Given the description of an element on the screen output the (x, y) to click on. 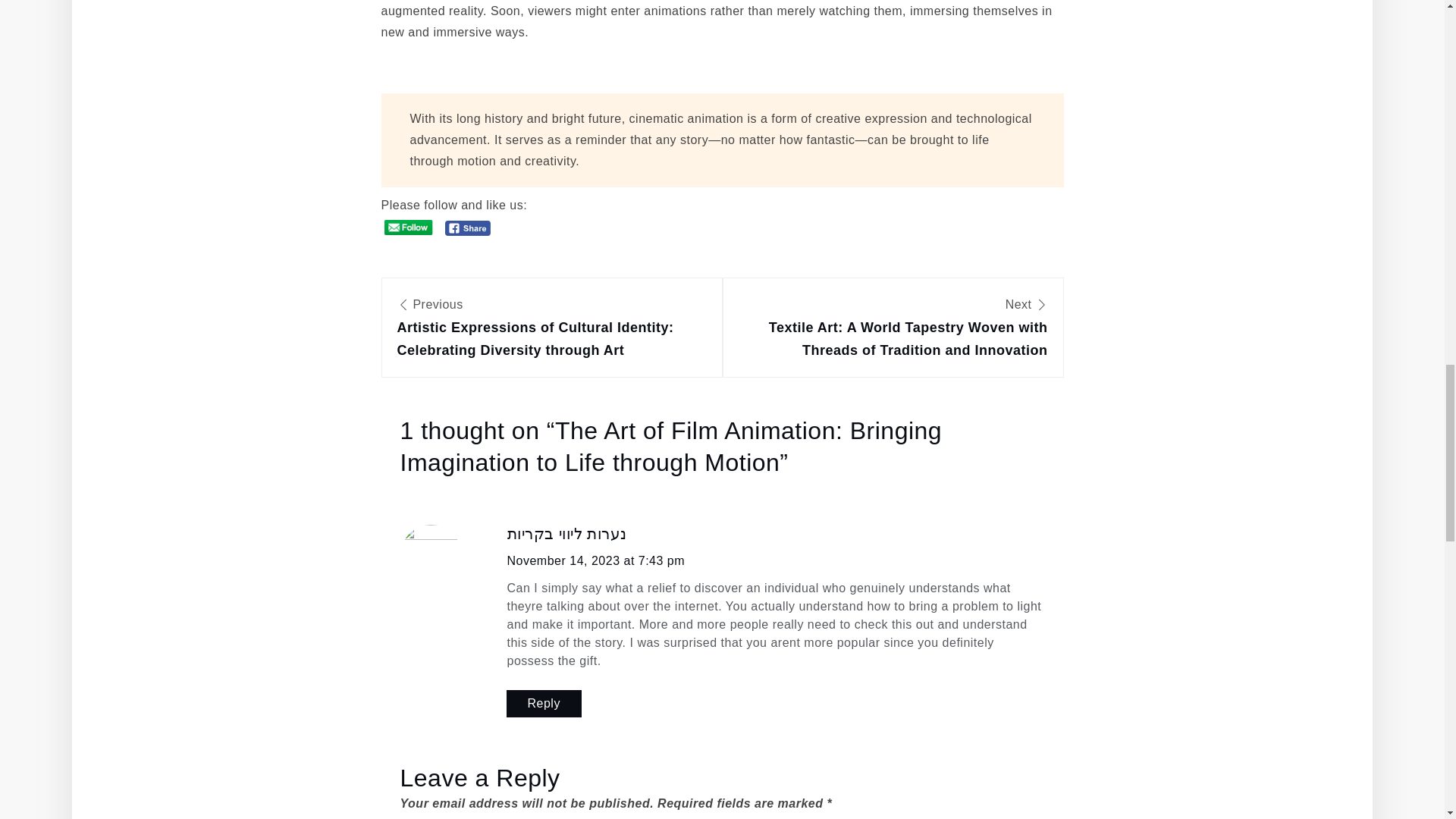
Facebook Share (468, 228)
November 14, 2023 at 7:43 pm (595, 559)
Reply (543, 703)
